Given the description of an element on the screen output the (x, y) to click on. 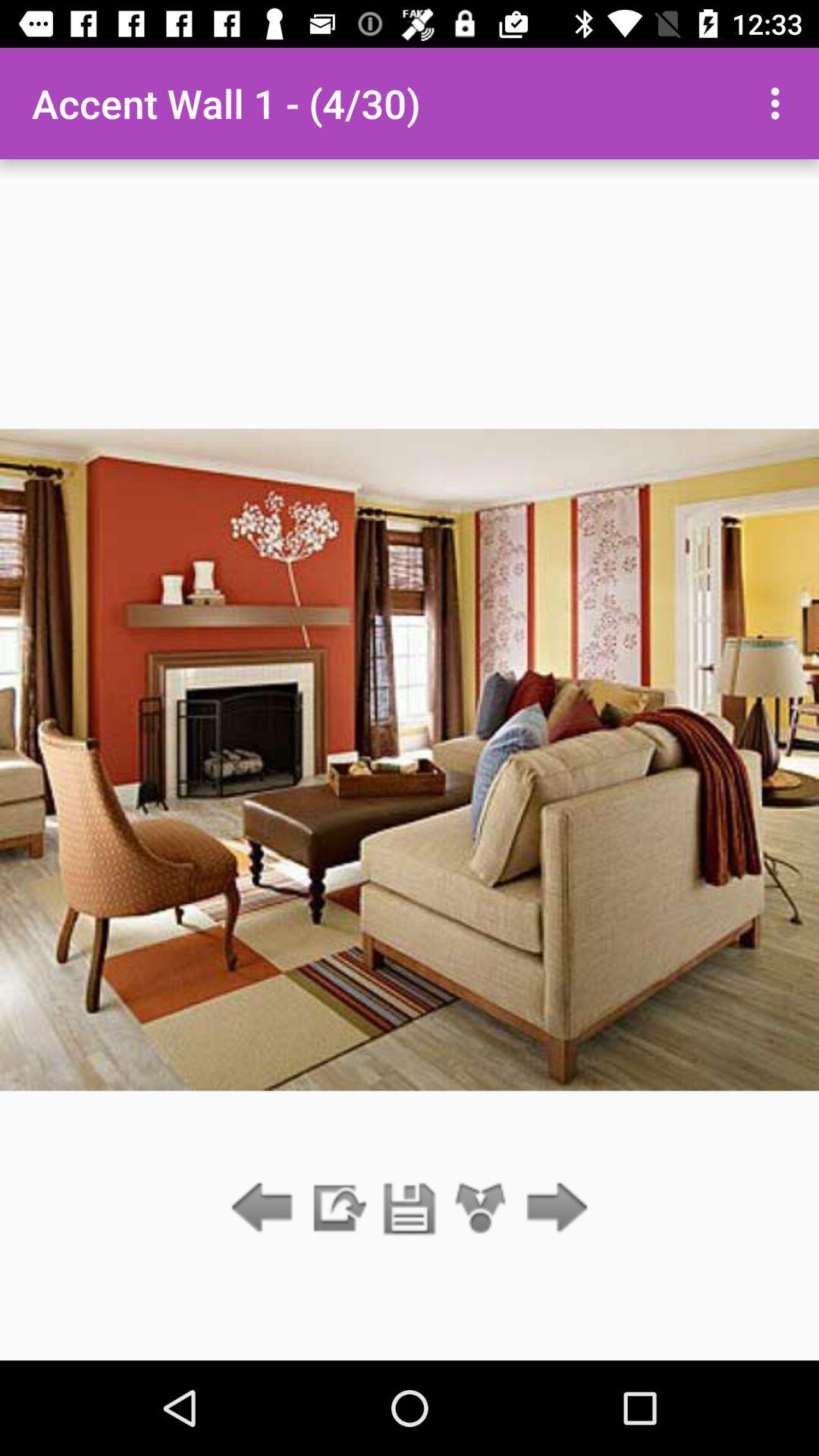
copy (337, 1208)
